Given the description of an element on the screen output the (x, y) to click on. 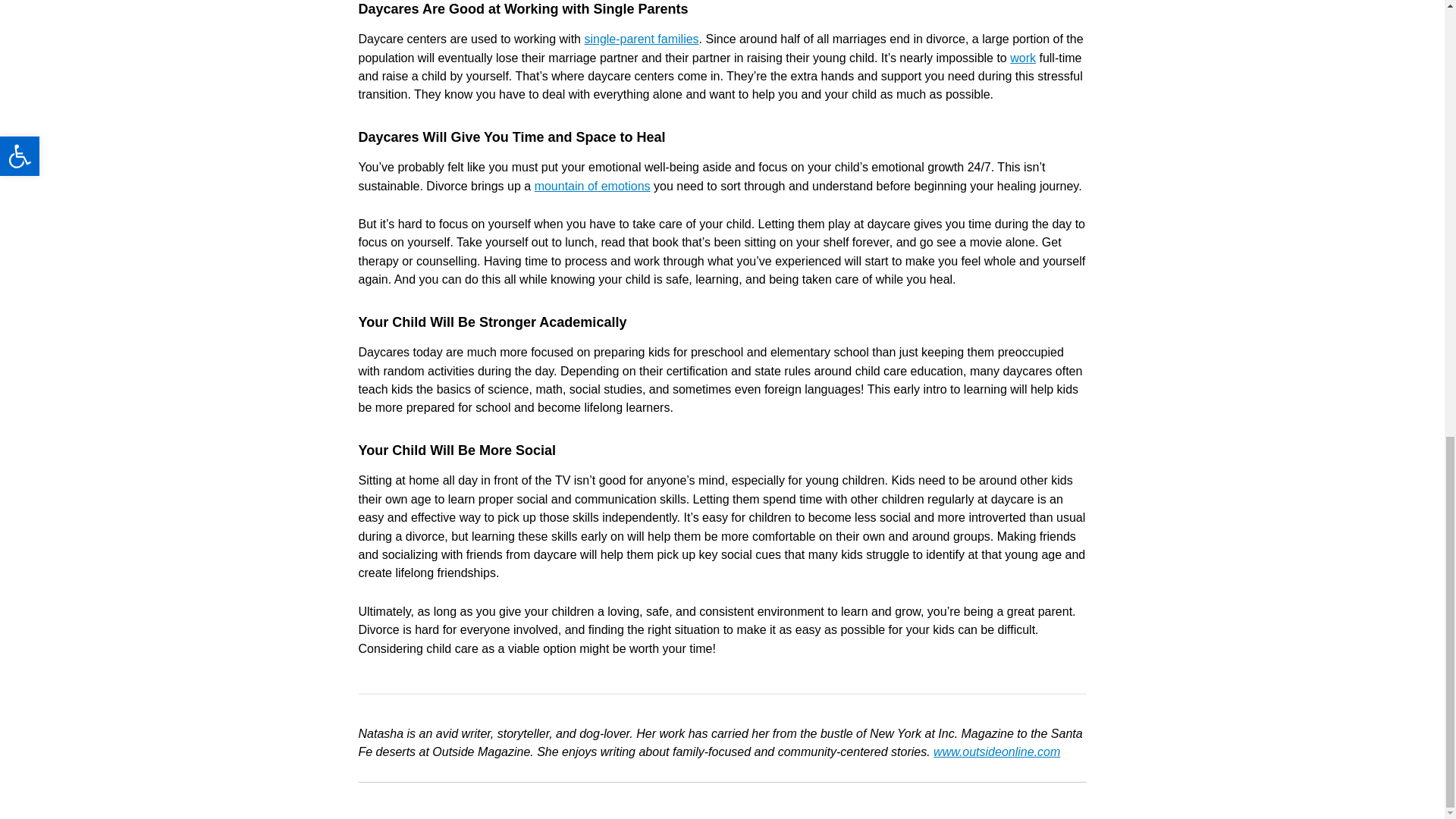
mountain of emotions (592, 185)
single-parent families (640, 38)
www.outsideonline.com (996, 751)
work (1022, 57)
